Given the description of an element on the screen output the (x, y) to click on. 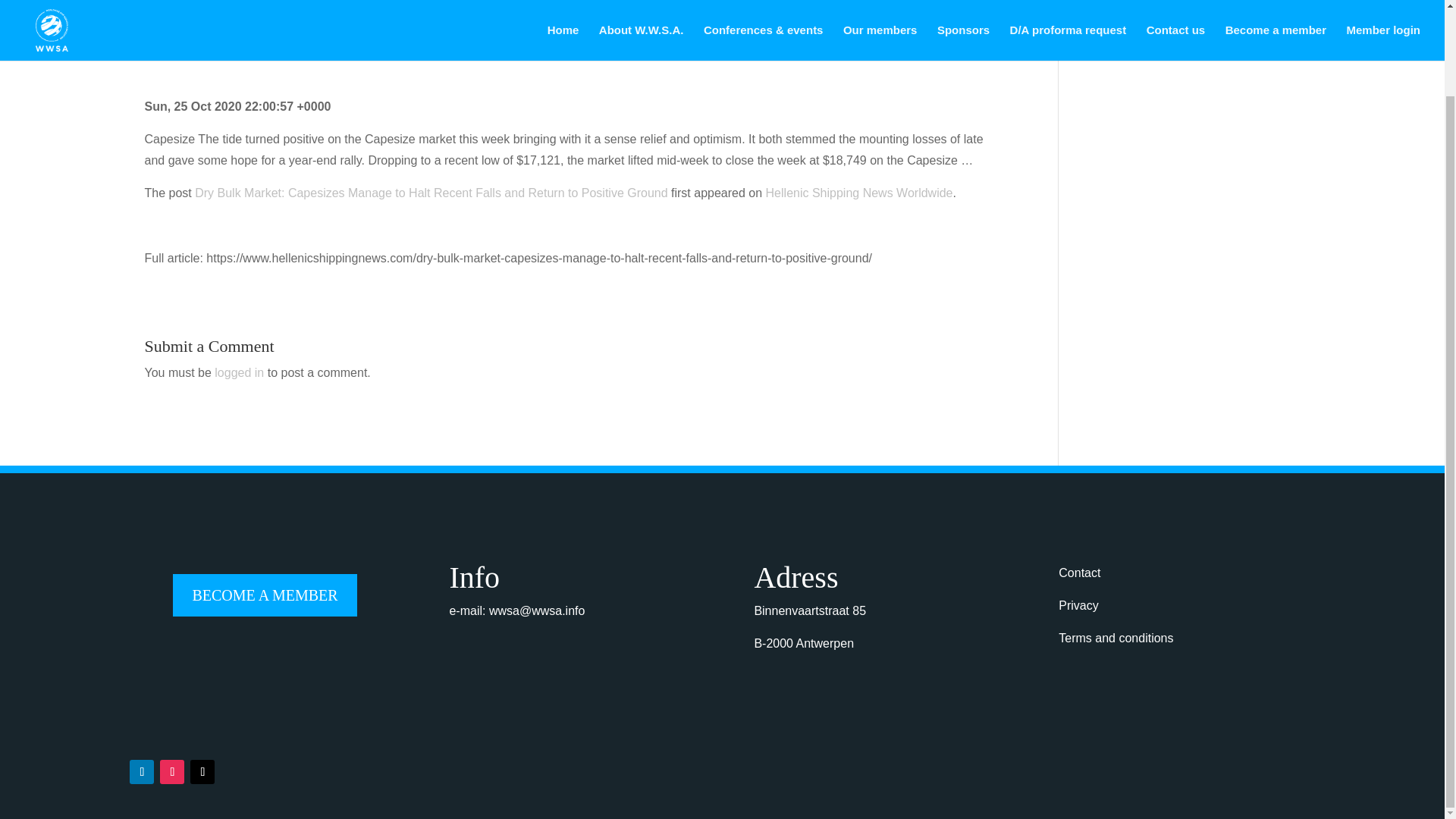
0 comments (274, 46)
BECOME A MEMBER (264, 595)
Follow on LinkedIn (141, 771)
News (222, 46)
Contact (1079, 572)
Follow on Instagram (172, 771)
Terms and conditions (1115, 637)
logged in (238, 372)
Follow on X (202, 771)
Hellenic Shipping News Worldwide (859, 192)
Privacy (1077, 604)
